Given the description of an element on the screen output the (x, y) to click on. 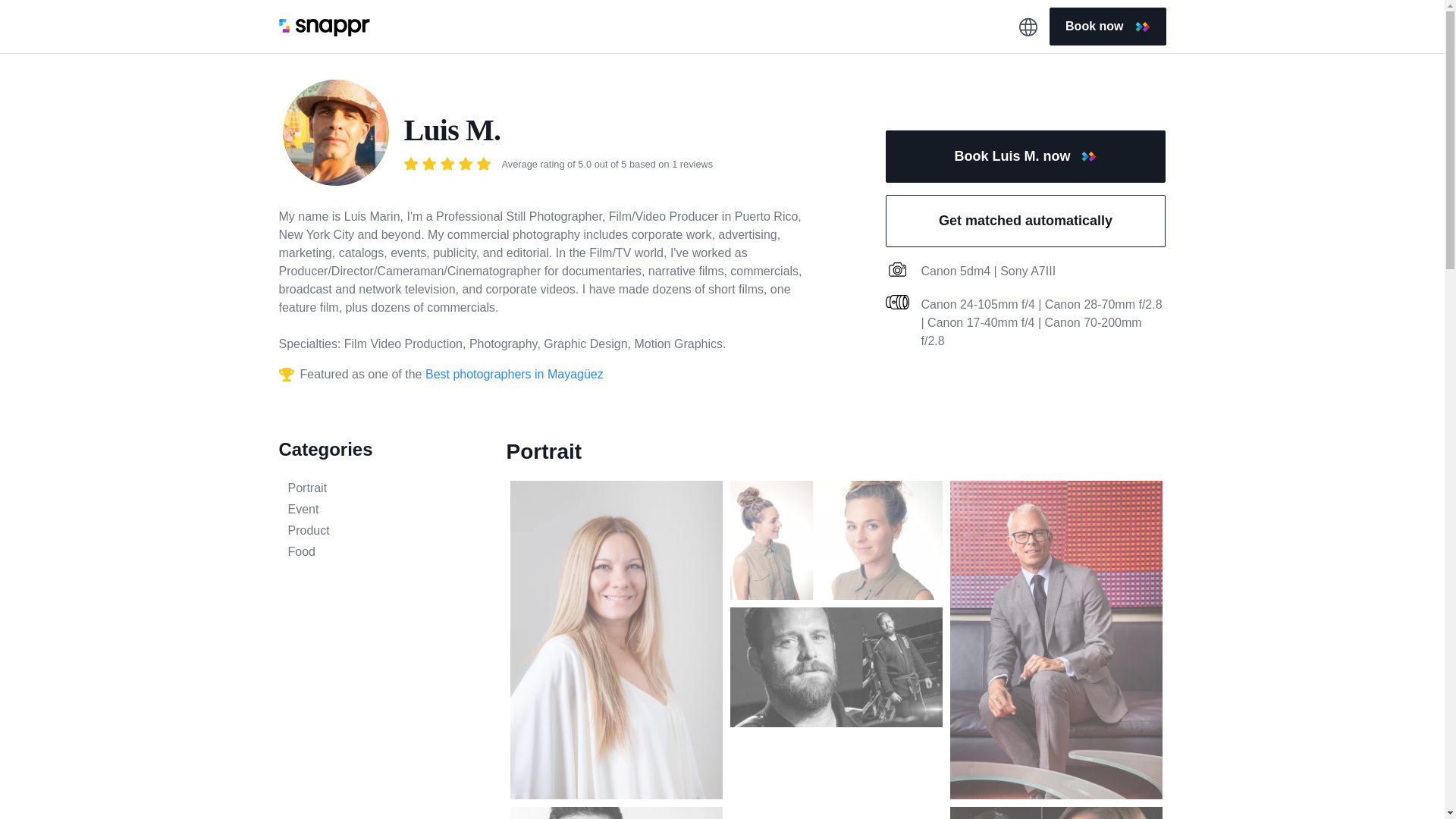
Product (381, 530)
Get matched automatically (1025, 220)
Book now (1107, 26)
Book Luis M. now (1025, 156)
Food (381, 551)
Event (381, 509)
Portrait (381, 488)
